Given the description of an element on the screen output the (x, y) to click on. 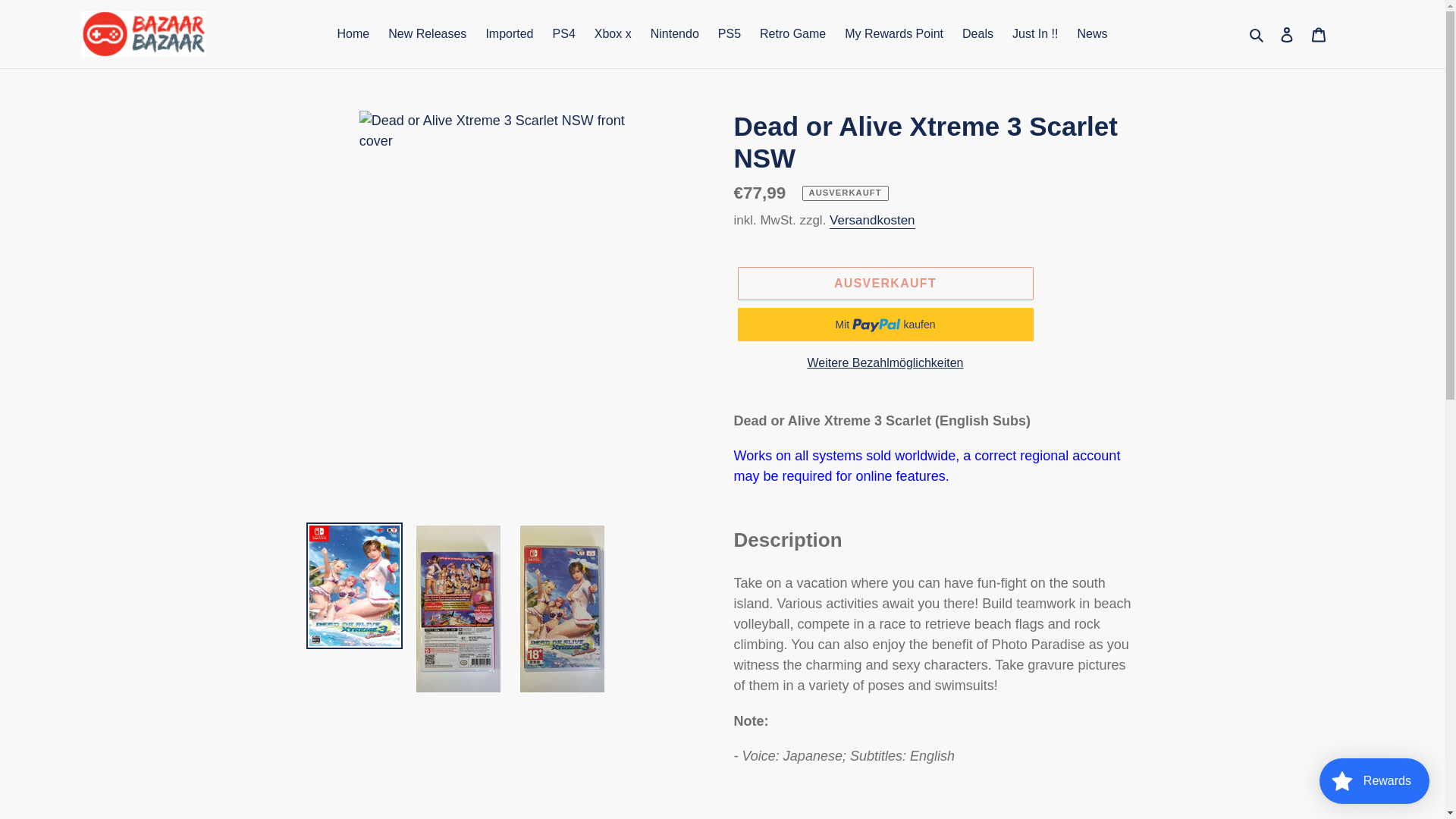
PS5 (729, 33)
Imported (508, 33)
AUSVERKAUFT (884, 283)
New Releases (427, 33)
Home (353, 33)
Warenkorb (1319, 34)
Suchen (1257, 33)
Nintendo (674, 33)
News (1091, 33)
Just In !! (1034, 33)
Retro Game (792, 33)
Deals (978, 33)
Xbox x (612, 33)
PS4 (563, 33)
Einloggen (1287, 34)
